Given the description of an element on the screen output the (x, y) to click on. 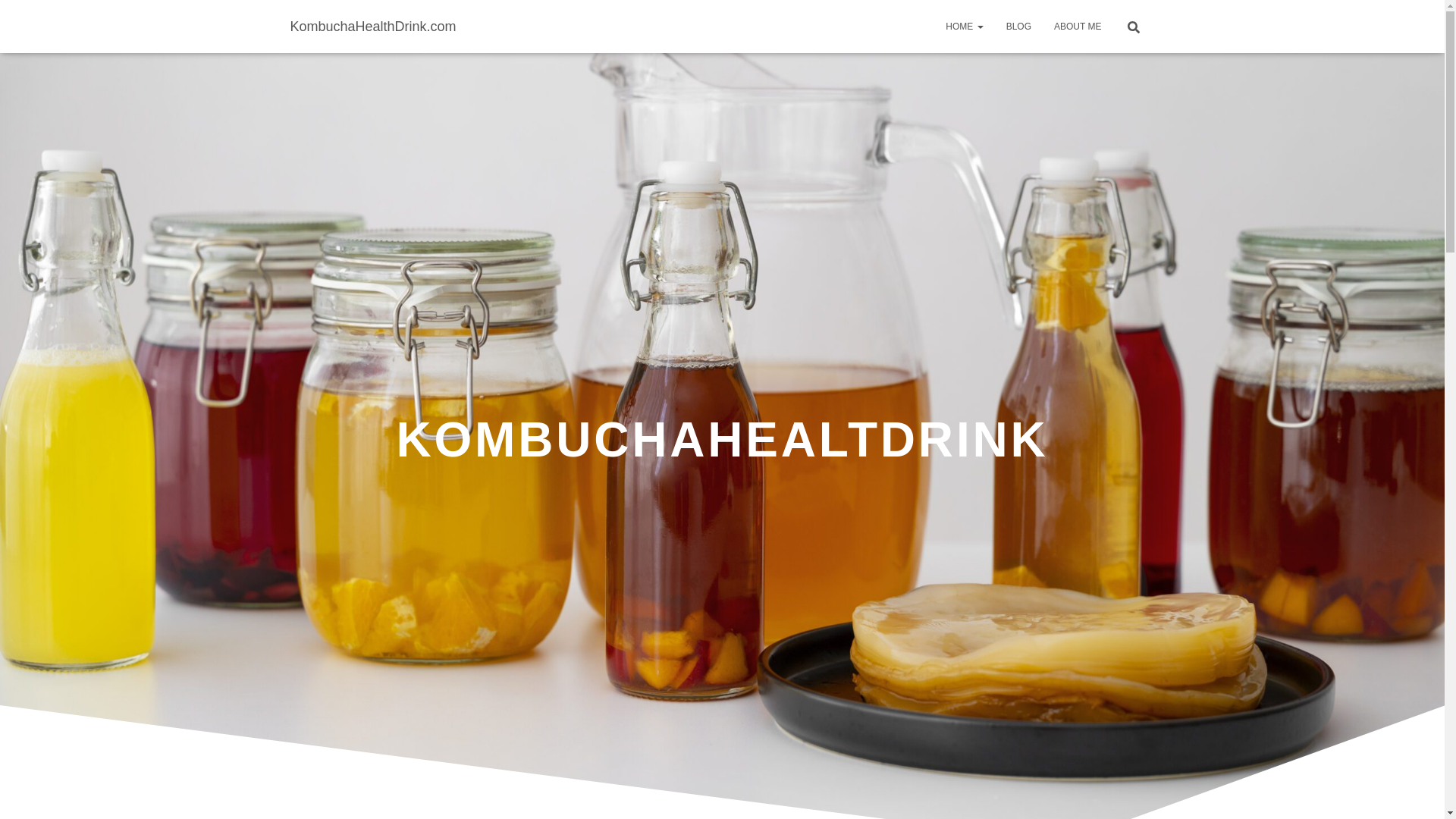
Home (964, 26)
KombuchaHealthDrink.com (373, 26)
BLOG (1018, 26)
ABOUT ME (1077, 26)
Blog (1018, 26)
HOME (964, 26)
Search (16, 16)
About Me (1077, 26)
KombuchaHealthDrink.com (373, 26)
